Given the description of an element on the screen output the (x, y) to click on. 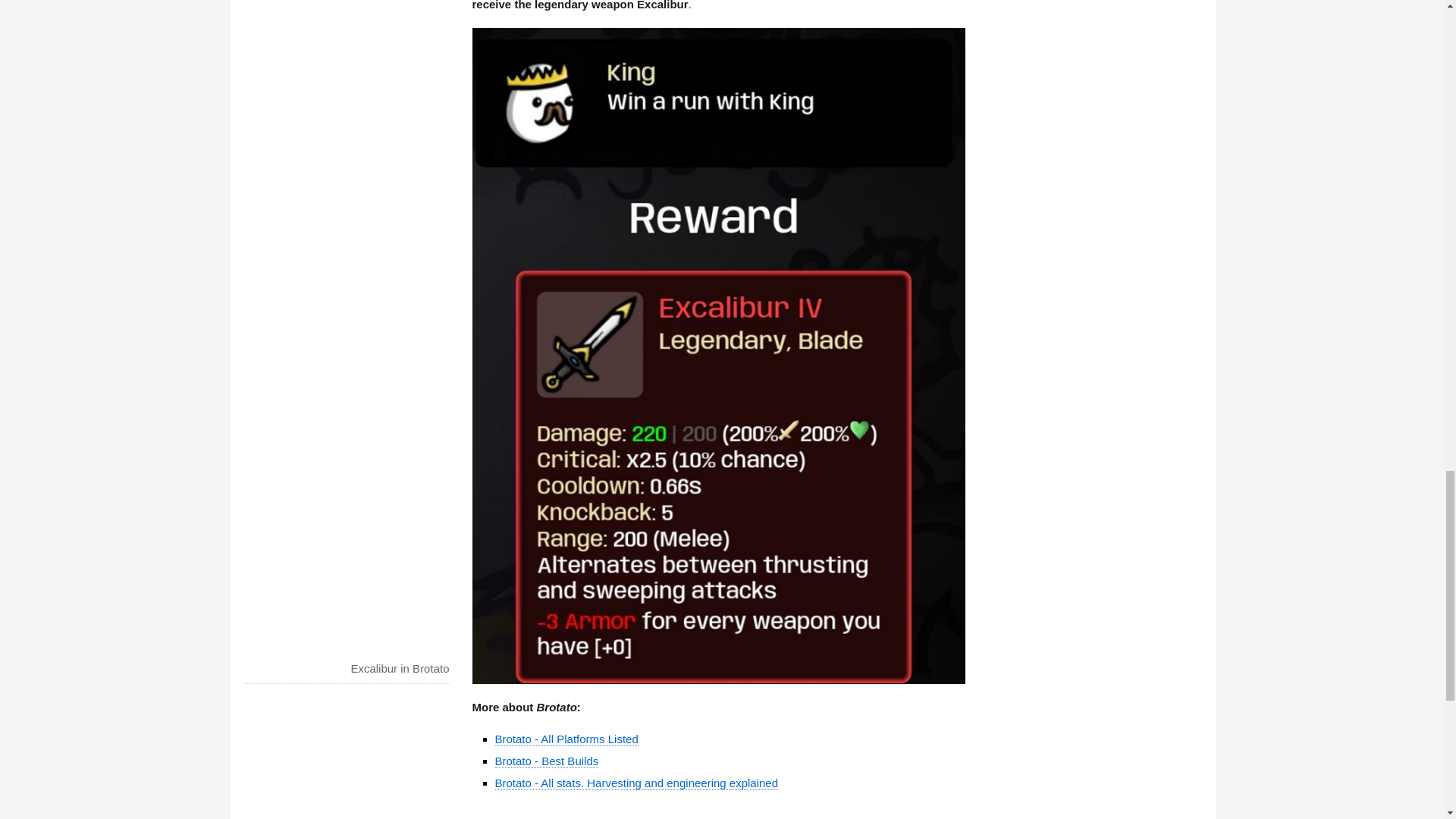
Brotato - Best Builds (546, 761)
Brotato - All stats. Harvesting and engineering explained (636, 783)
Brotato - All Platforms Listed (566, 739)
